Given the description of an element on the screen output the (x, y) to click on. 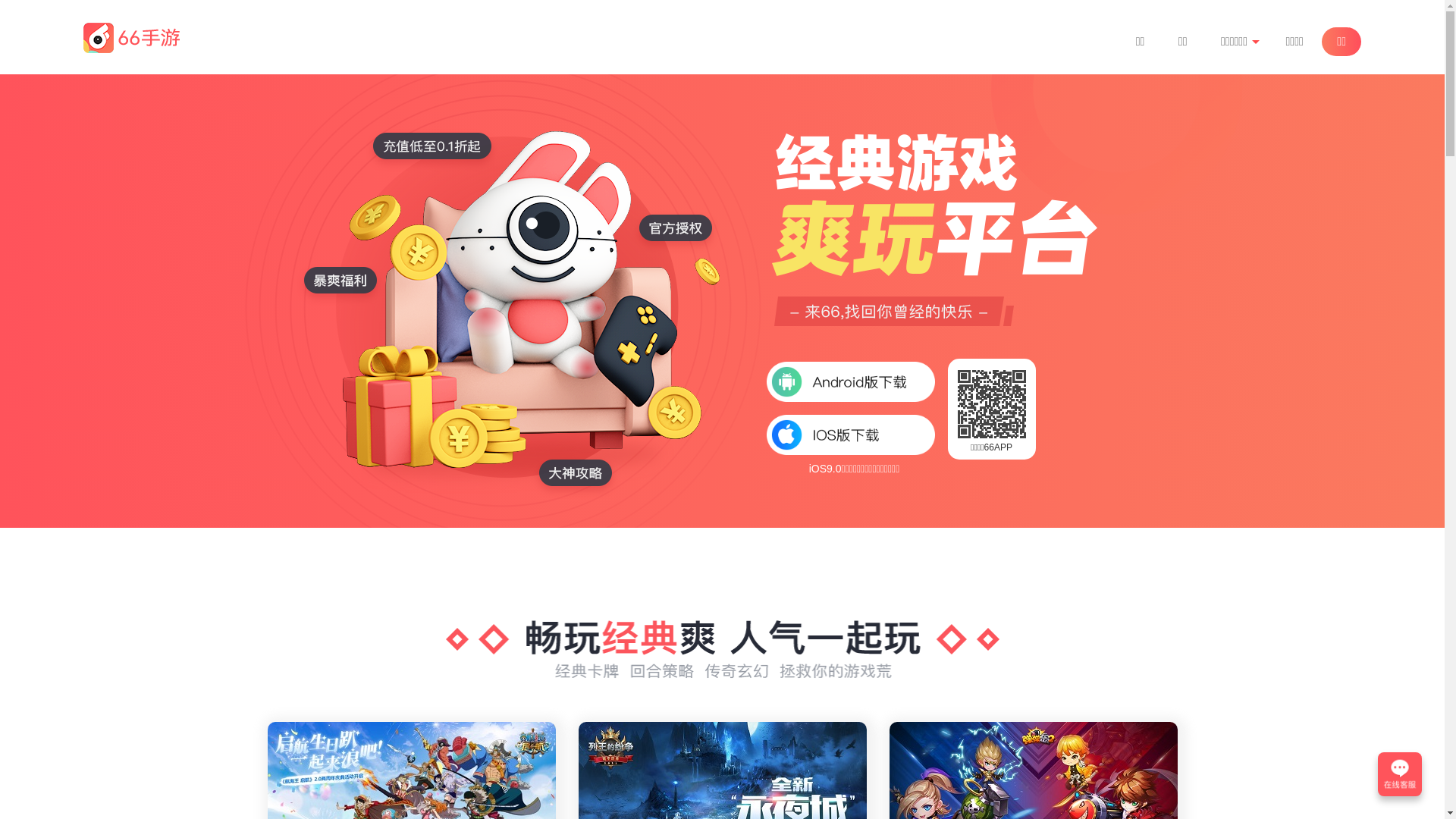
http://m.66shouyou.com/?from=pc&channelid=344257 Element type: hover (991, 404)
